Given the description of an element on the screen output the (x, y) to click on. 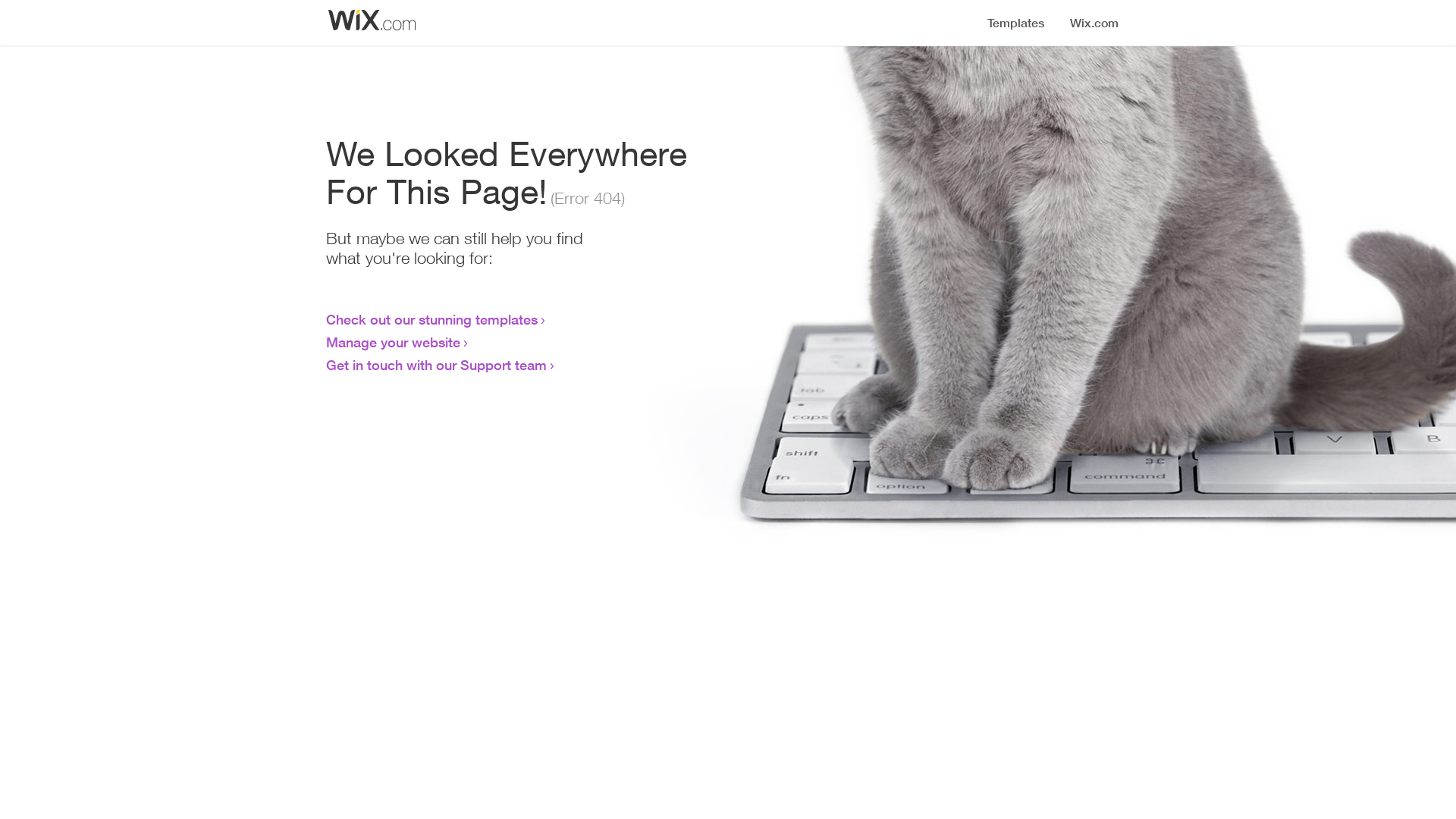
Get in touch with our Support team Element type: text (436, 364)
Check out our stunning templates Element type: text (431, 318)
Manage your website Element type: text (393, 341)
